Given the description of an element on the screen output the (x, y) to click on. 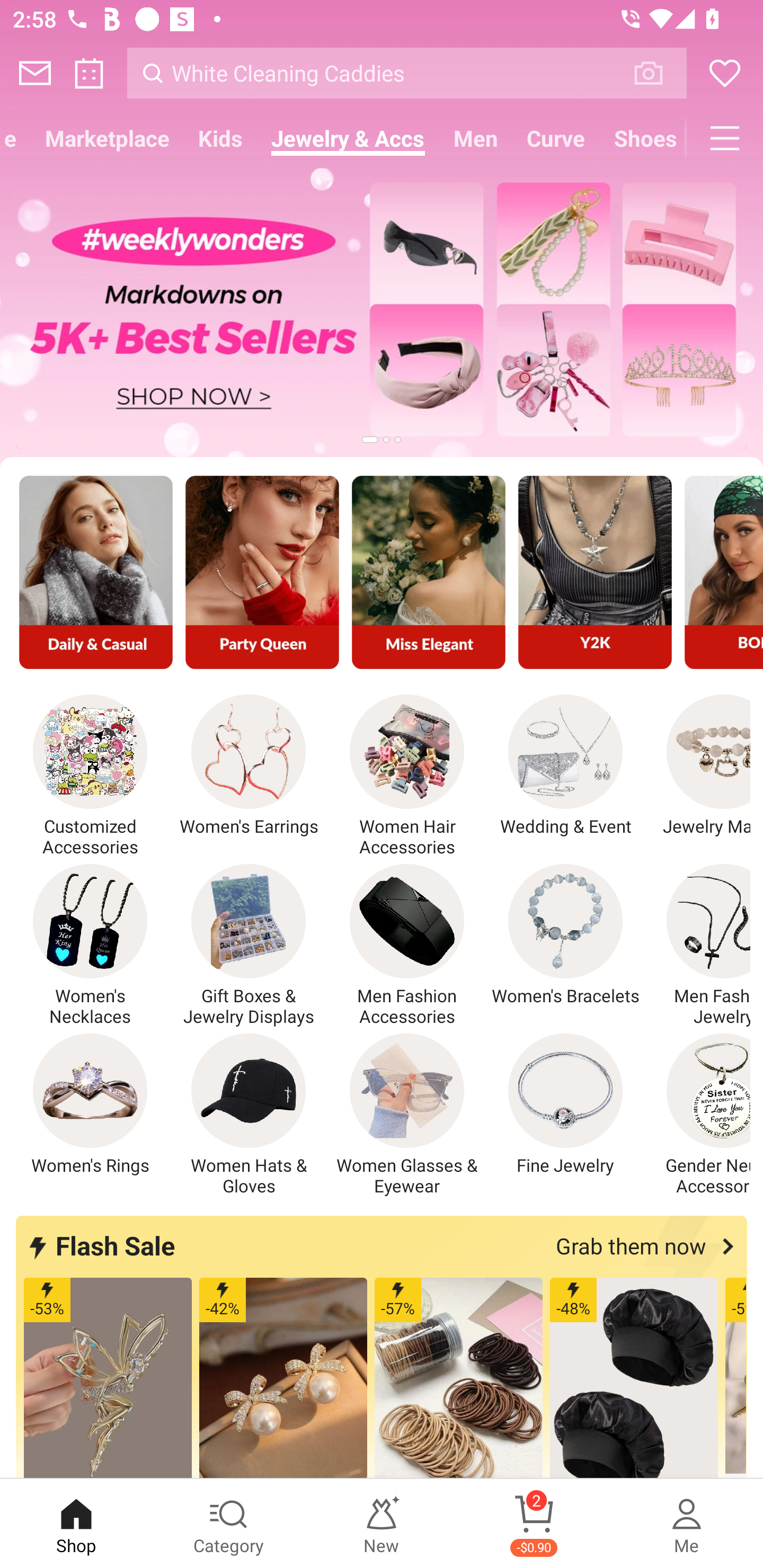
Wishlist (724, 72)
VISUAL SEARCH (657, 72)
Marketplace (106, 137)
Kids (220, 137)
Jewelry & Accs (348, 137)
Men (475, 137)
Curve (555, 137)
Shoes (642, 137)
Customized Accessories (89, 775)
Women's Earrings (248, 765)
Women Hair Accessories (406, 775)
Wedding & Event (565, 765)
Jewelry Making (698, 765)
Women's Necklaces (89, 945)
Gift Boxes & Jewelry Displays (248, 945)
Men Fashion Accessories (406, 945)
Women's Bracelets (565, 934)
Men Fashion Jewelry (698, 945)
Women's Rings (89, 1104)
Women Hats & Gloves (248, 1114)
Women Glasses & Eyewear (406, 1114)
Fine Jewelry (565, 1104)
Gender Neutral Accessories (698, 1114)
Category (228, 1523)
New (381, 1523)
Cart 2 -$0.90 (533, 1523)
Me (686, 1523)
